Given the description of an element on the screen output the (x, y) to click on. 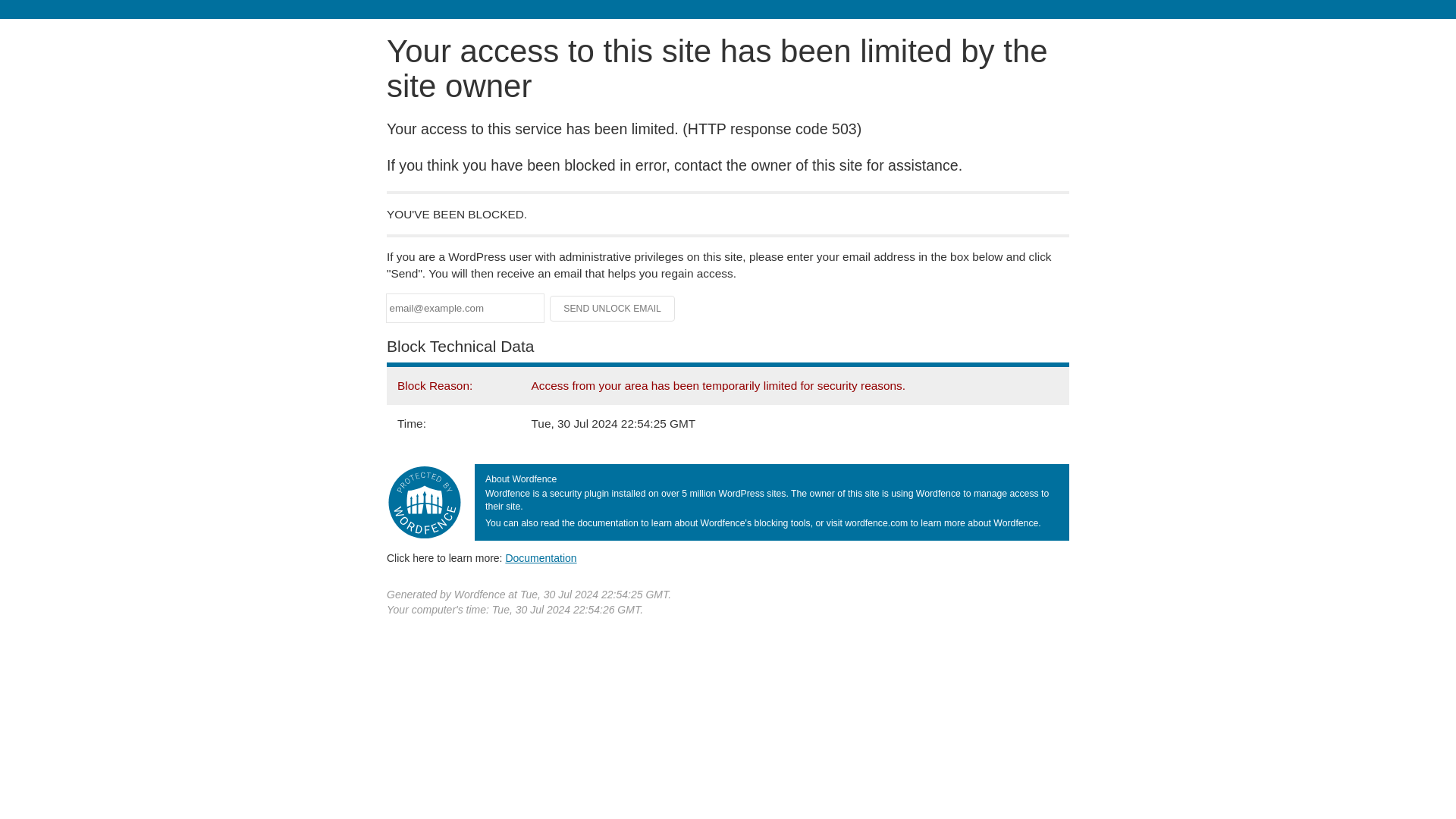
Send Unlock Email (612, 308)
Send Unlock Email (612, 308)
Documentation (540, 558)
